Given the description of an element on the screen output the (x, y) to click on. 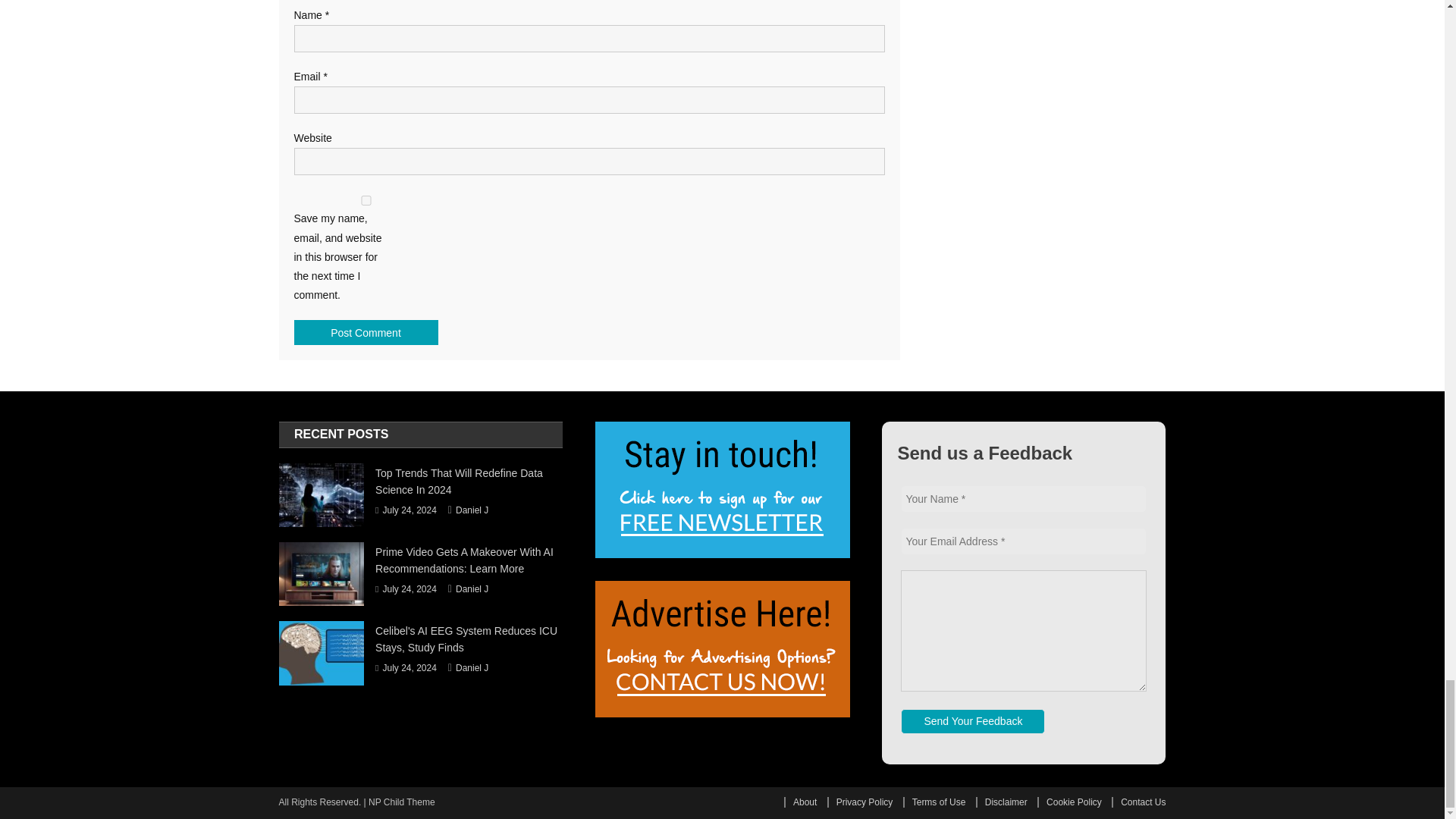
Post Comment (366, 332)
Post Comment (366, 332)
Send Your Feedback (973, 721)
yes (366, 200)
